Given the description of an element on the screen output the (x, y) to click on. 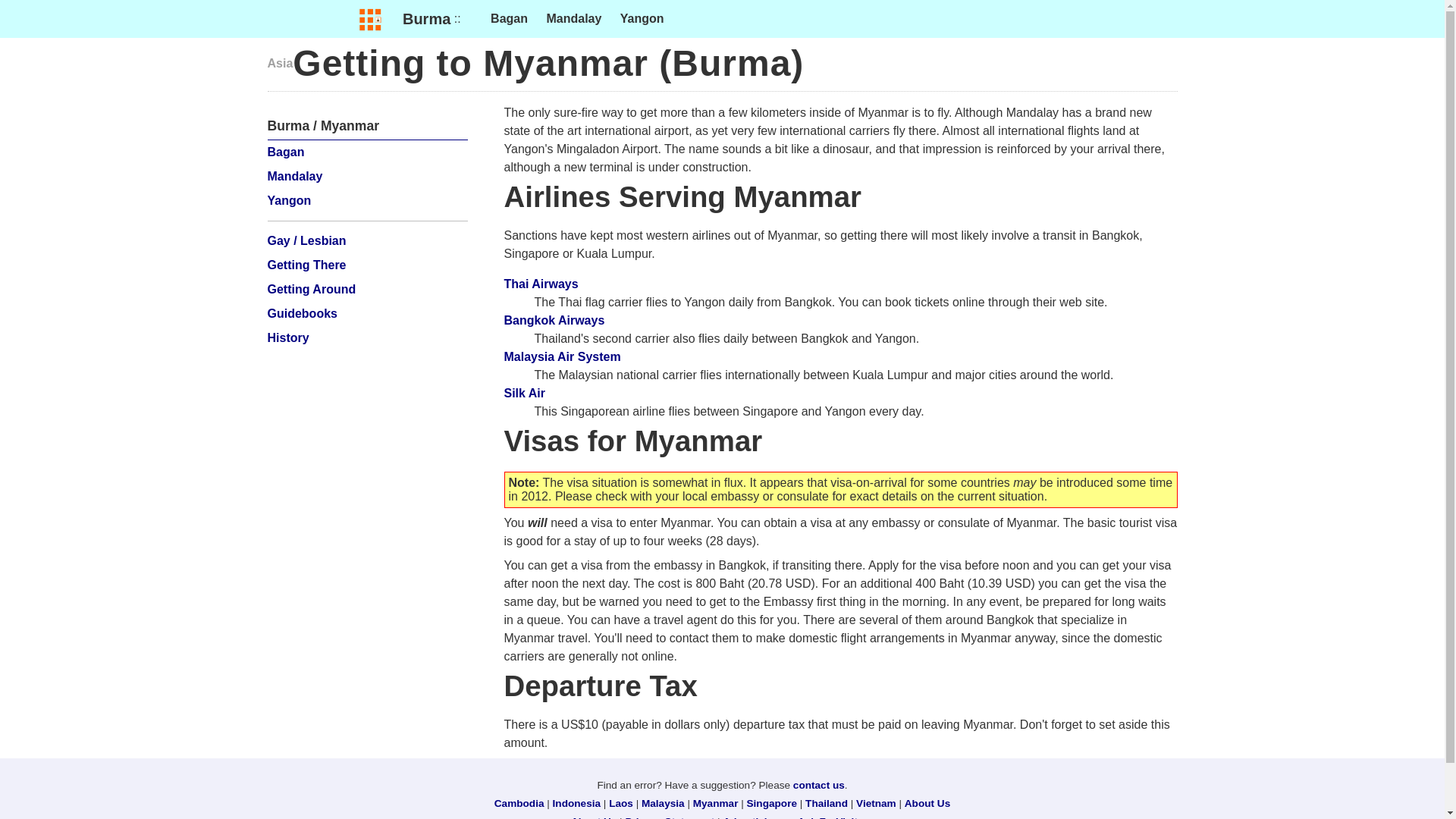
Thailand (826, 803)
Bagan (285, 151)
Thai Airways (540, 283)
Getting There (306, 264)
Yangon (288, 200)
Asia (279, 62)
Silk Air (523, 392)
Yangon (641, 18)
Myanmar (715, 803)
contact us (818, 785)
